Given the description of an element on the screen output the (x, y) to click on. 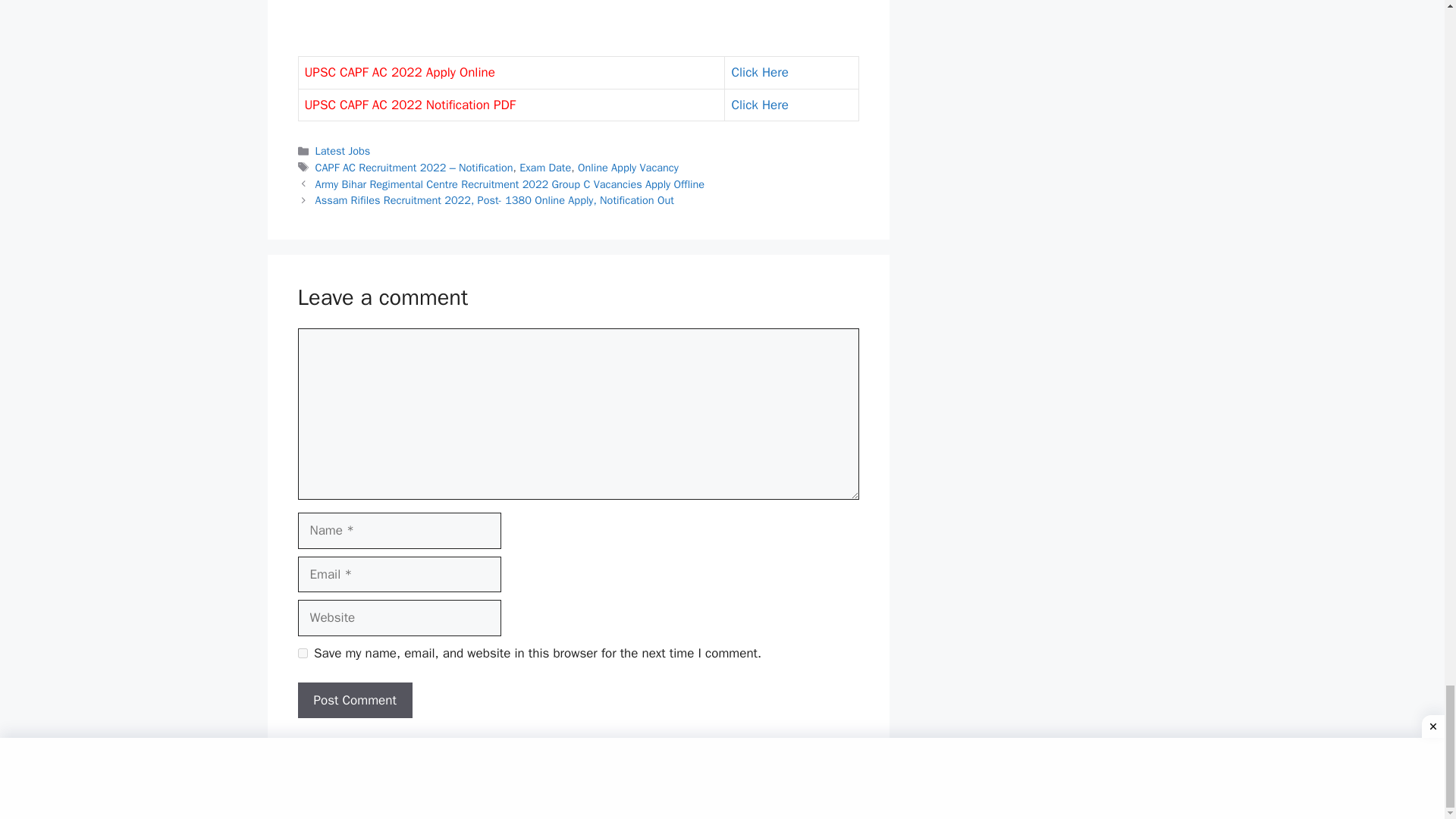
Post Comment (354, 700)
Exam Date (544, 167)
Latest Jobs (343, 151)
Post Comment (354, 700)
yes (302, 653)
Click Here (758, 105)
Click Here (758, 72)
Online Apply Vacancy (628, 167)
